Given the description of an element on the screen output the (x, y) to click on. 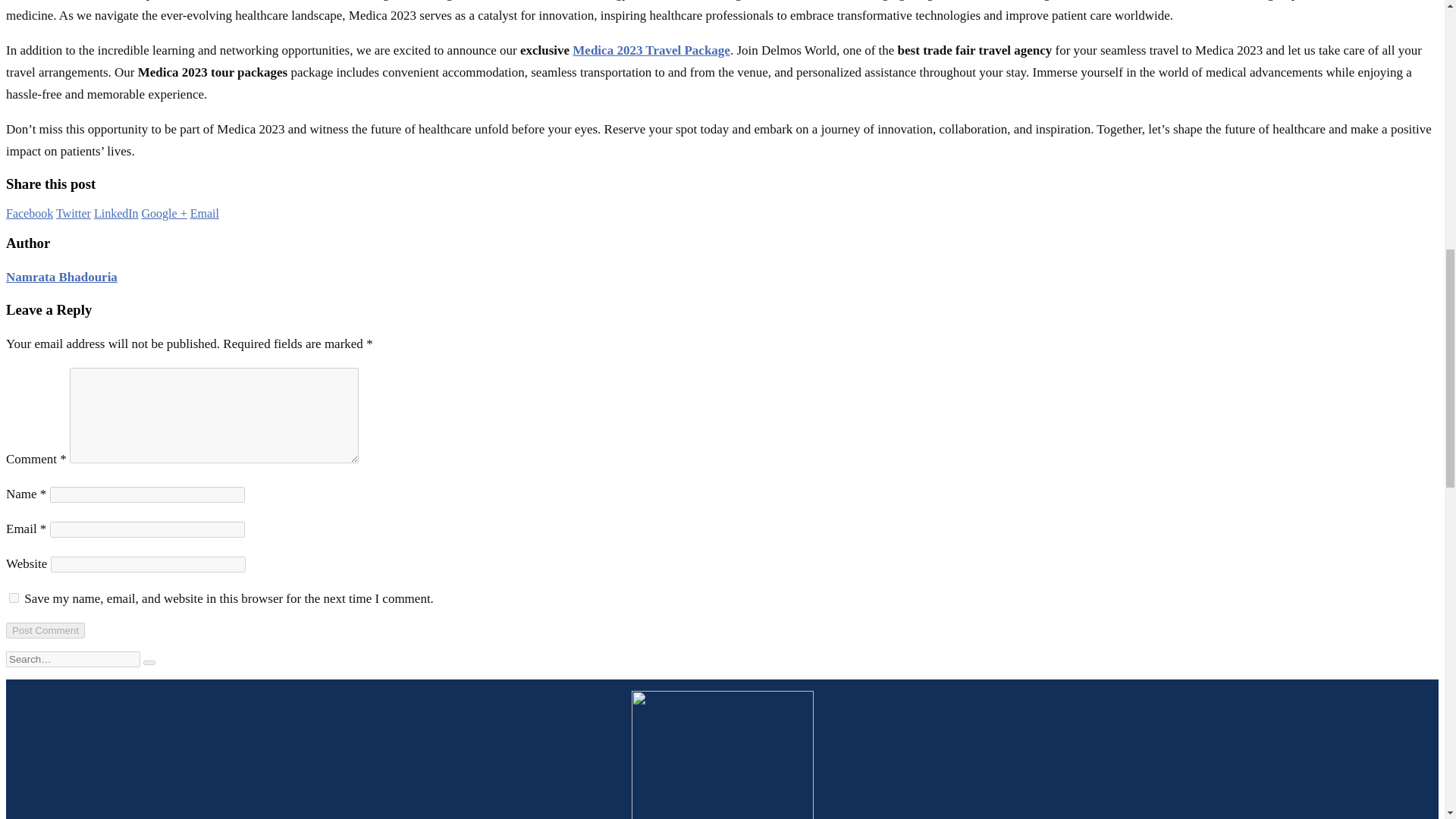
Email (204, 213)
Facebook (28, 213)
Facebook (28, 213)
Medica 2023 Travel Package (651, 50)
Posts by Namrata Bhadouria (61, 277)
LinkedIn (116, 213)
Twitter (73, 213)
Post Comment (44, 630)
LinkedIn (116, 213)
Twitter (73, 213)
